Given the description of an element on the screen output the (x, y) to click on. 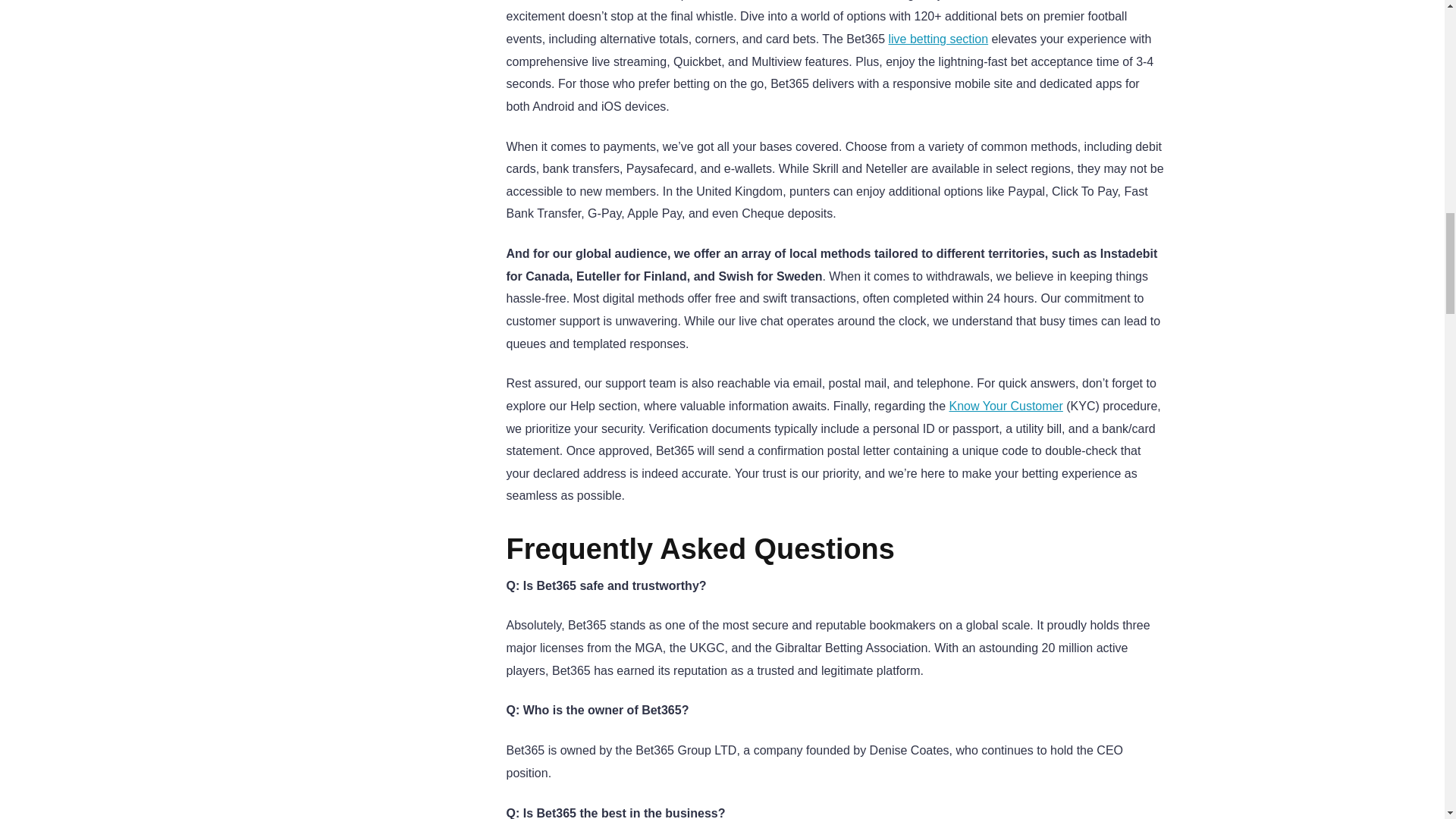
Know Your Customer (1005, 405)
live betting section (938, 38)
